Given the description of an element on the screen output the (x, y) to click on. 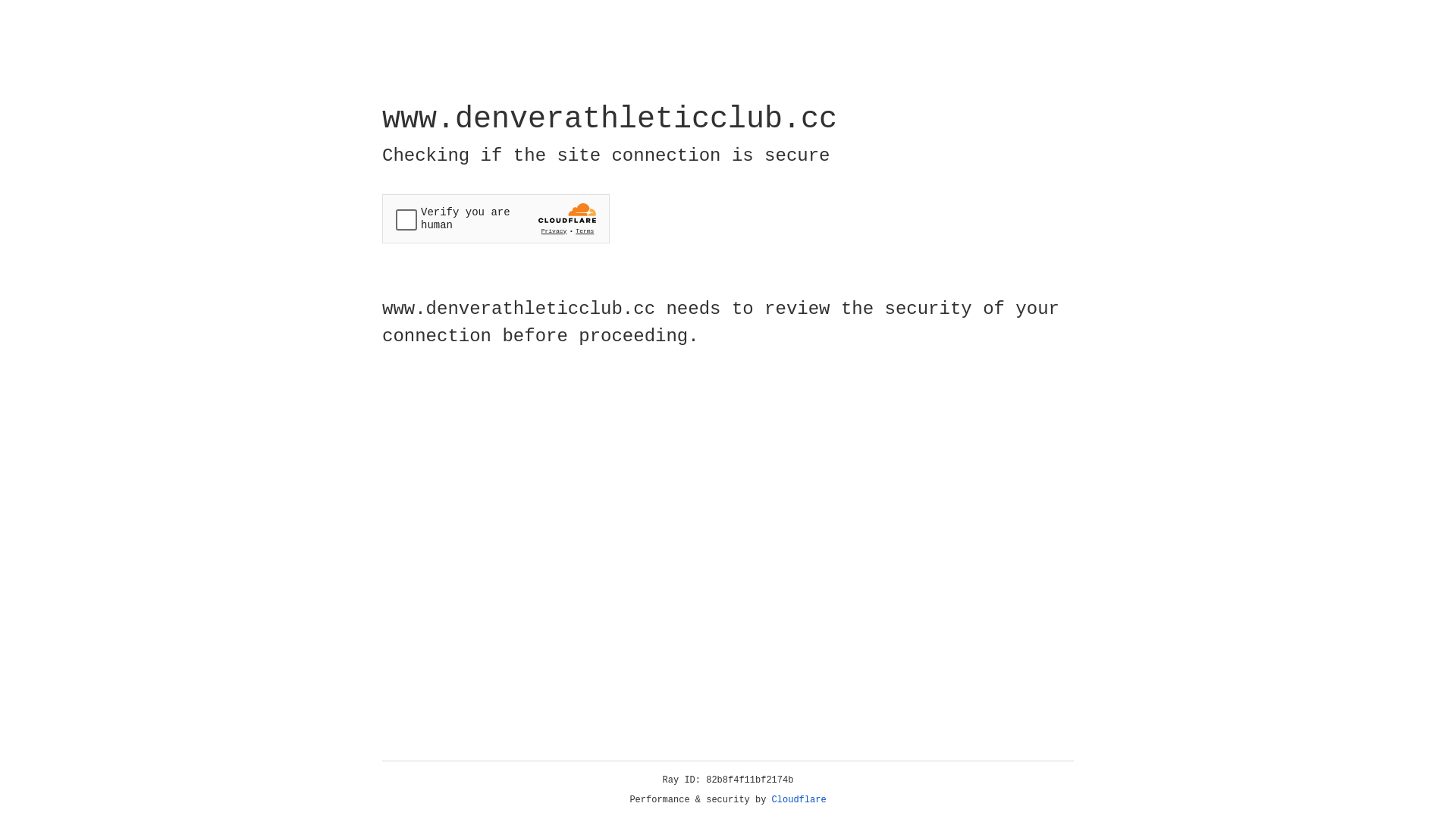
Cloudflare Element type: text (798, 799)
Widget containing a Cloudflare security challenge Element type: hover (495, 218)
